Given the description of an element on the screen output the (x, y) to click on. 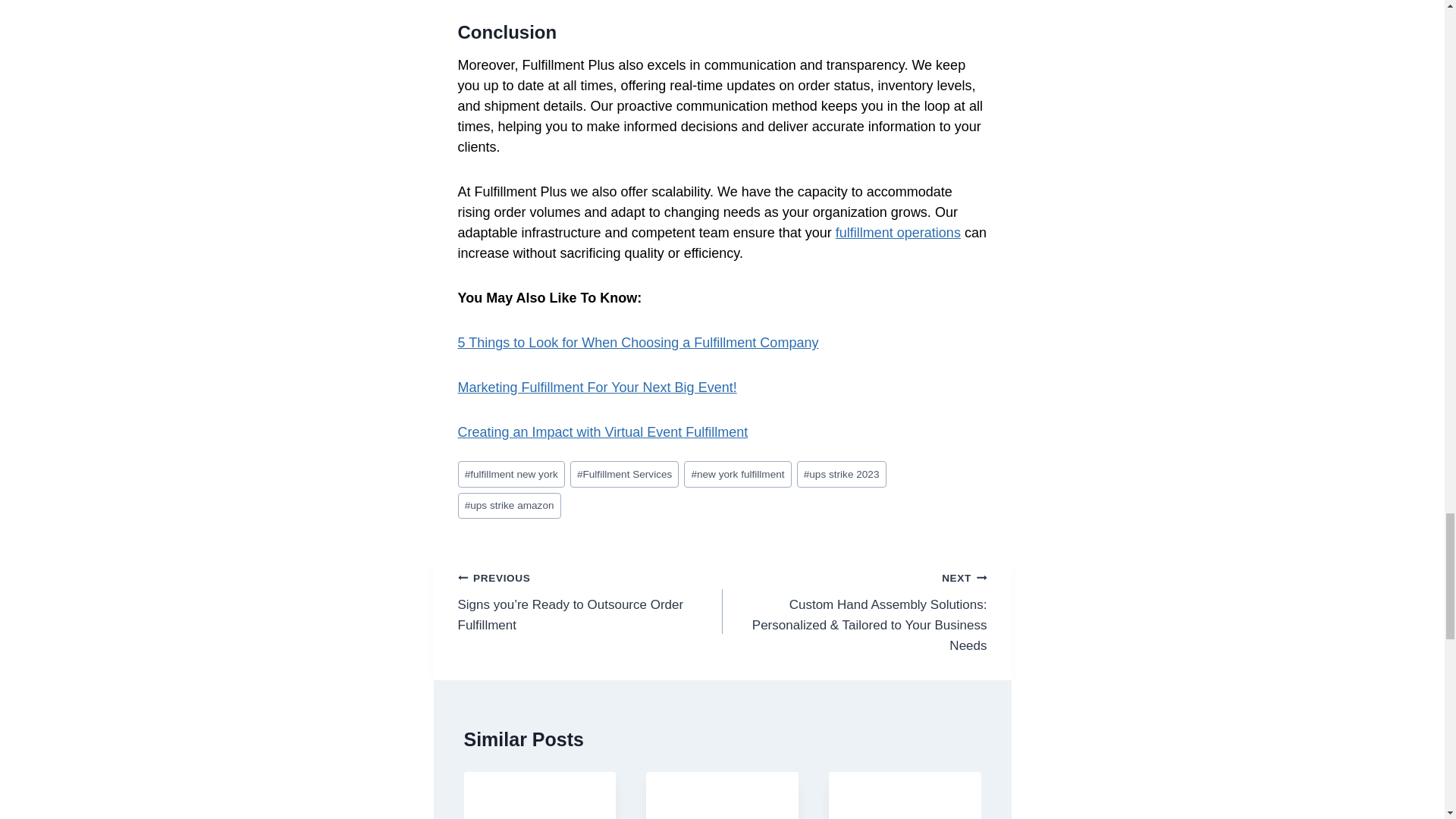
ups strike 2023 (841, 474)
Fulfillment Services (624, 474)
fulfillment new york (511, 474)
new york fulfillment (737, 474)
ups strike amazon (509, 506)
